Given the description of an element on the screen output the (x, y) to click on. 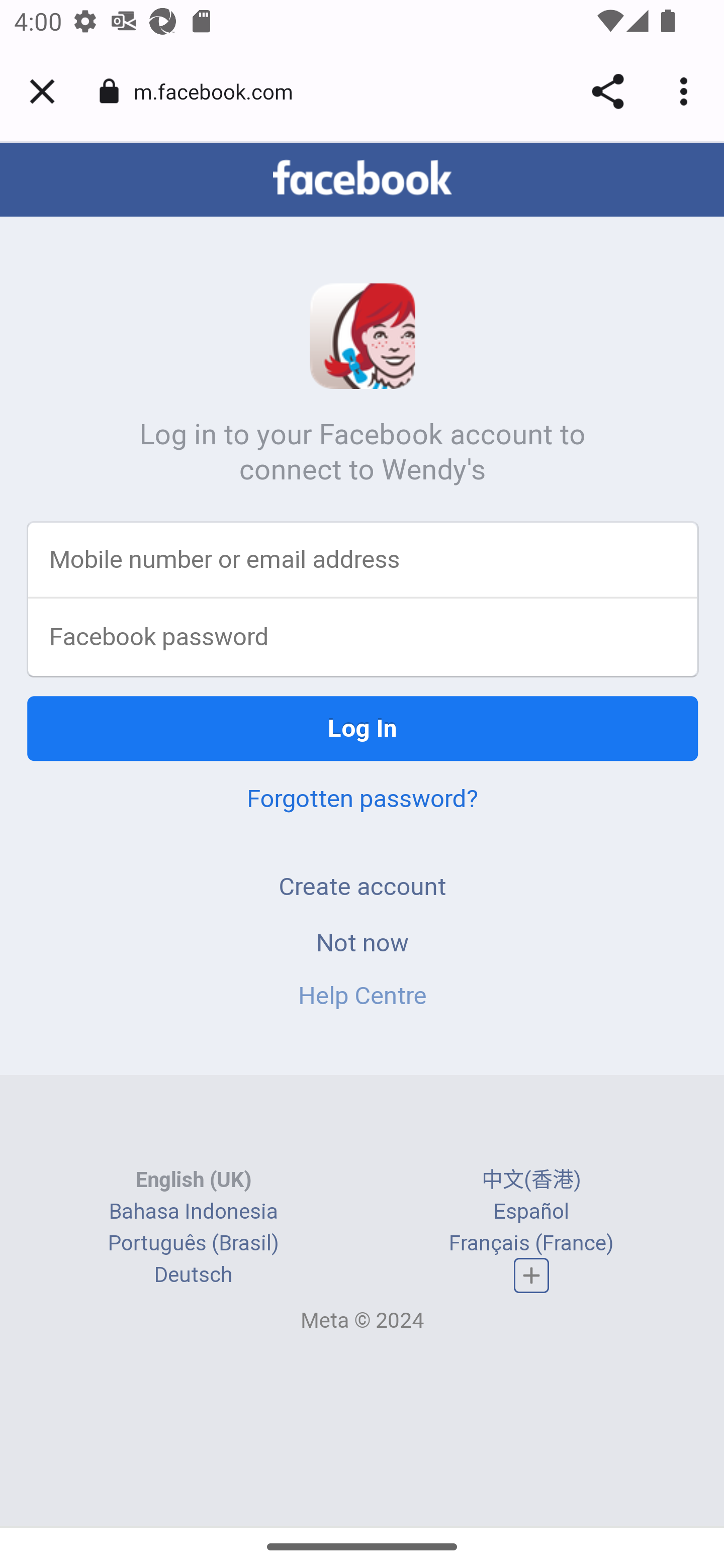
Close tab (42, 91)
Share (607, 91)
More options (687, 91)
Connection is secure (108, 91)
m.facebook.com (219, 90)
facebook (361, 179)
Log In (363, 729)
Forgotten password? (362, 800)
Create account (362, 887)
Not now (361, 943)
Help Centre (361, 996)
中文(香港) (531, 1181)
Bahasa Indonesia (193, 1212)
Español (531, 1212)
Português (Brasil) (193, 1243)
Français (France) (530, 1243)
Complete list of languages (531, 1277)
Deutsch (192, 1275)
